Given the description of an element on the screen output the (x, y) to click on. 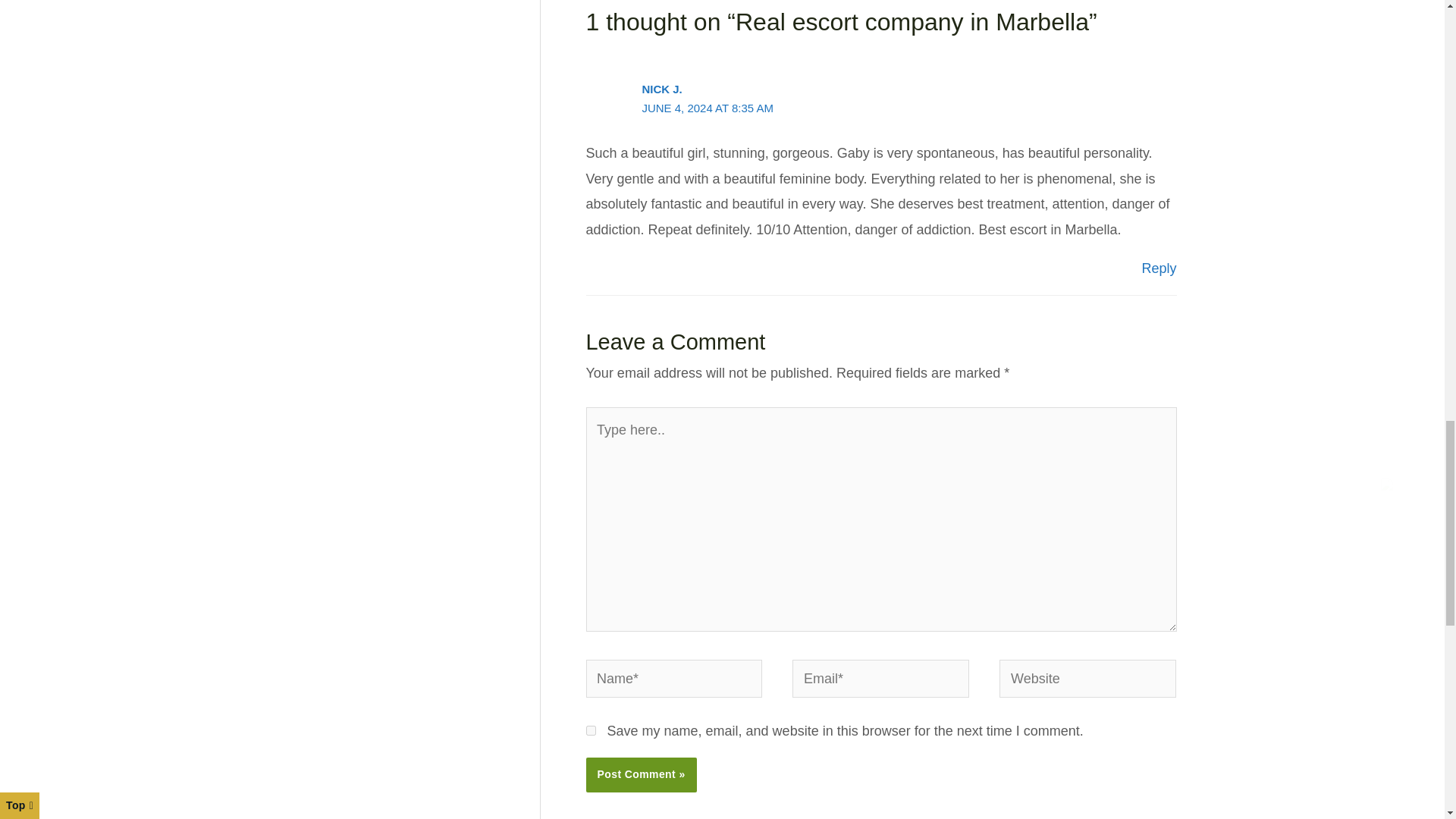
yes (590, 730)
